Given the description of an element on the screen output the (x, y) to click on. 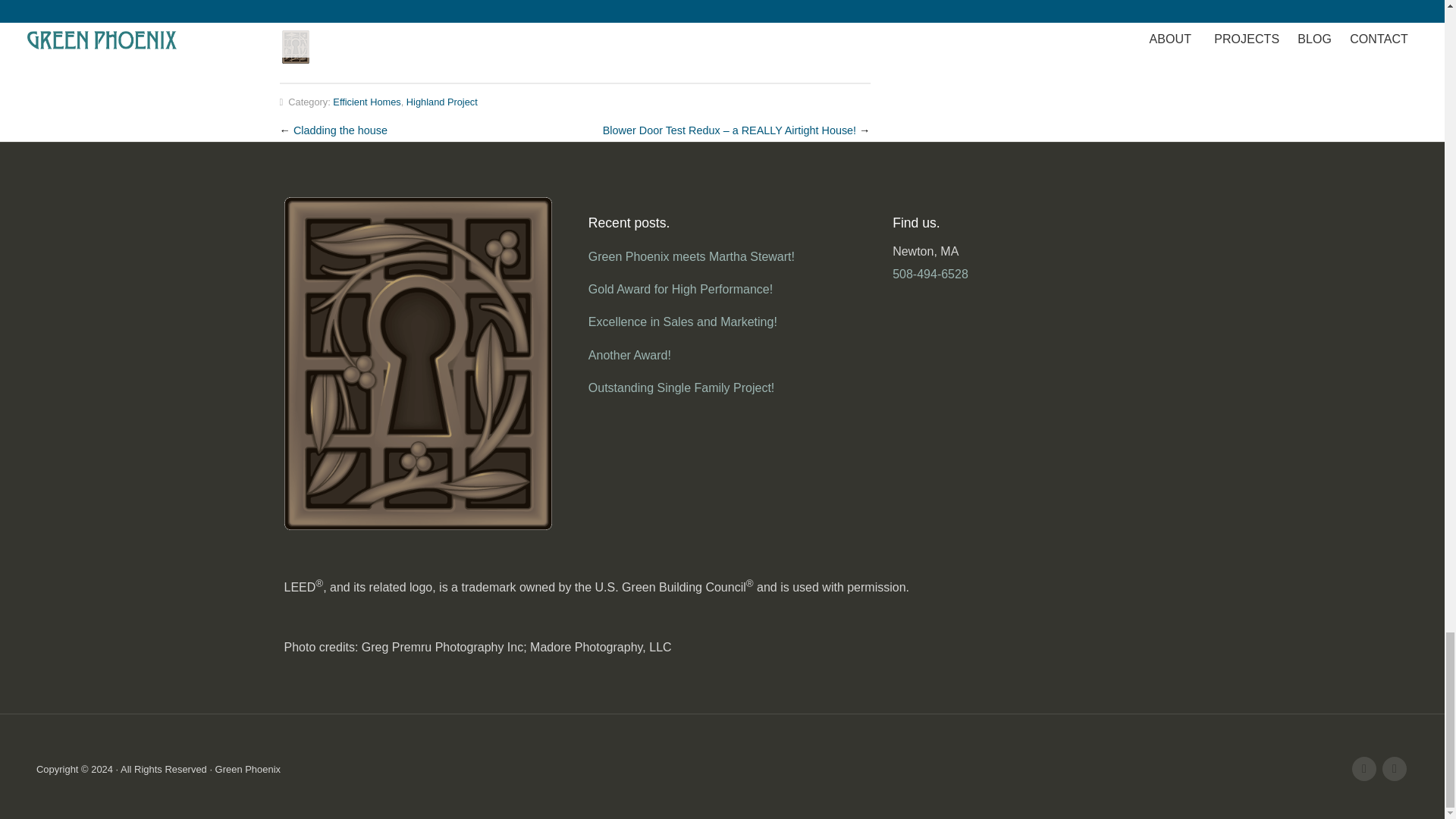
Efficient Homes (366, 101)
Highland Project (441, 101)
Cladding the house (340, 130)
